Given the description of an element on the screen output the (x, y) to click on. 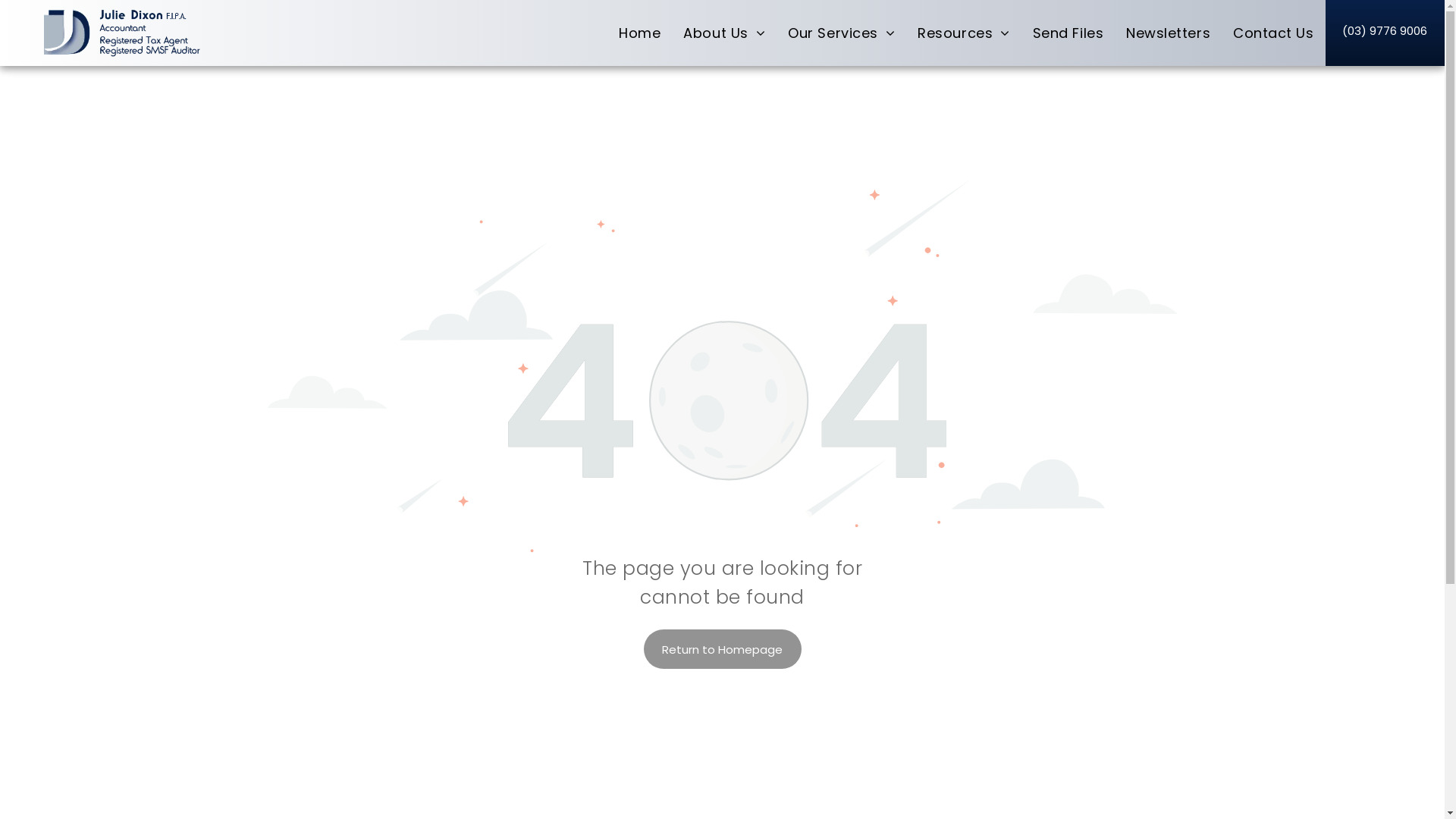
(03) 9776 9006 Element type: text (1384, 26)
Contact Us Element type: text (1272, 32)
Home Element type: text (639, 32)
Our Services Element type: text (841, 32)
Resources Element type: text (963, 32)
Newsletters Element type: text (1167, 32)
About Us Element type: text (723, 32)
Send Files Element type: text (1067, 32)
Return to Homepage Element type: text (721, 648)
